Given the description of an element on the screen output the (x, y) to click on. 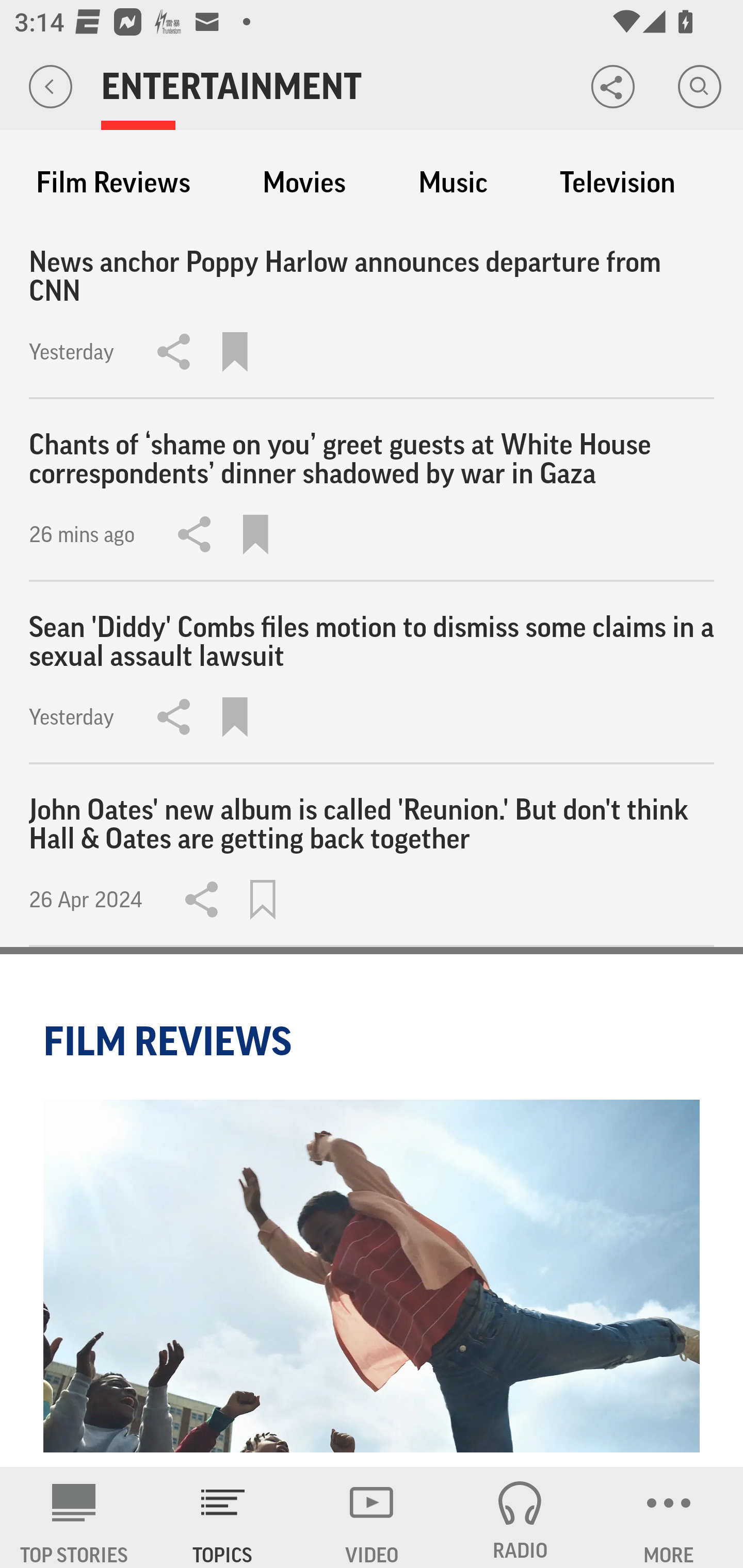
Film Reviews (112, 182)
Movies (304, 182)
Music (452, 182)
Television (617, 182)
FILM REVIEWS (170, 1040)
AP News TOP STORIES (74, 1517)
TOPICS (222, 1517)
VIDEO (371, 1517)
RADIO (519, 1517)
MORE (668, 1517)
